Given the description of an element on the screen output the (x, y) to click on. 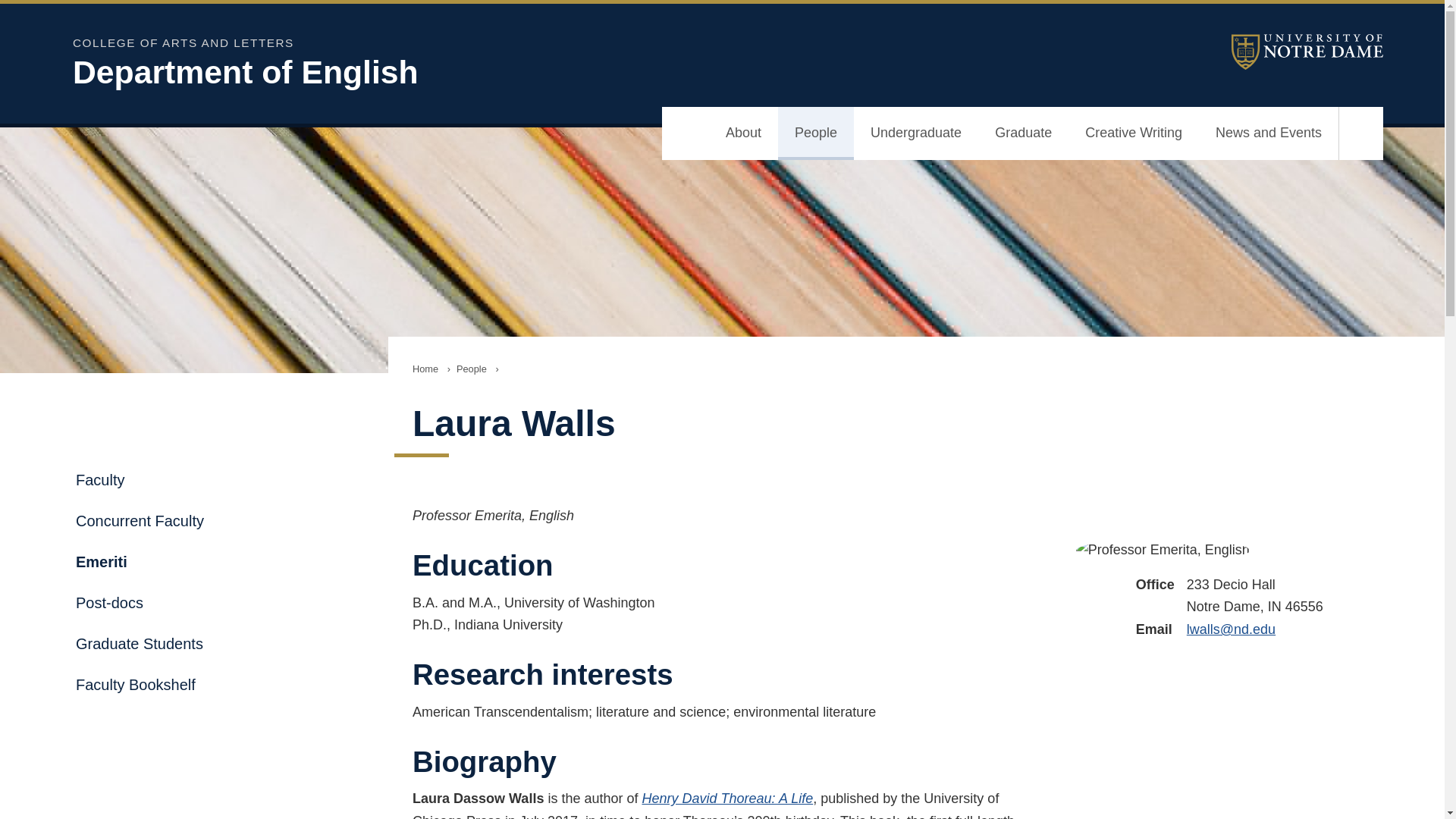
People (471, 368)
Graduate (1023, 133)
Department of English (466, 72)
News and Events (1268, 133)
People (815, 133)
Home (425, 368)
About (743, 133)
University of Notre Dame (1307, 51)
Creative Writing (1133, 133)
Henry David Thoreau: A Life (727, 798)
